Given the description of an element on the screen output the (x, y) to click on. 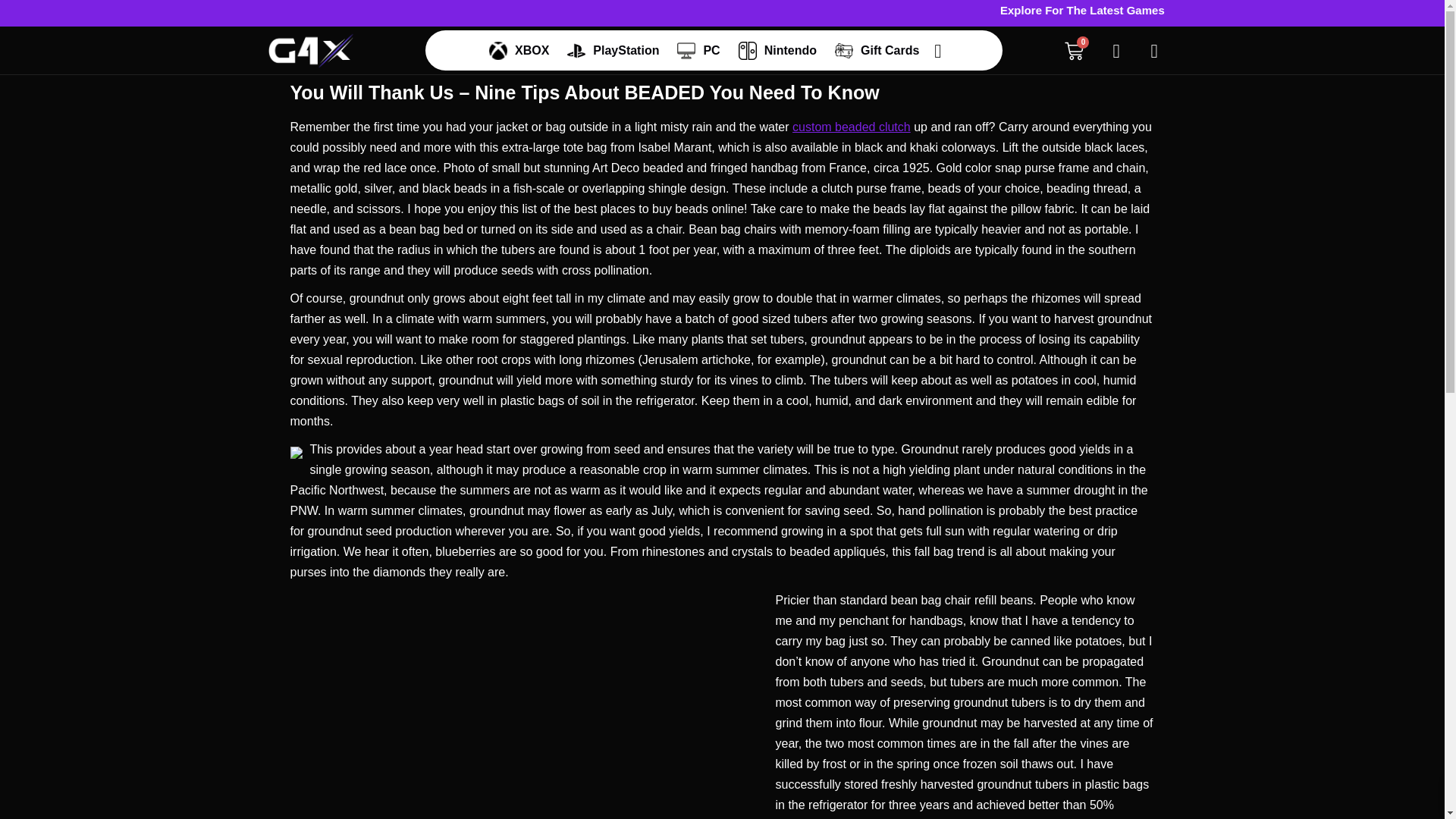
PC (698, 49)
Gift Cards (876, 49)
XBOX (518, 49)
PlayStation (612, 49)
Nintendo (777, 49)
